Given the description of an element on the screen output the (x, y) to click on. 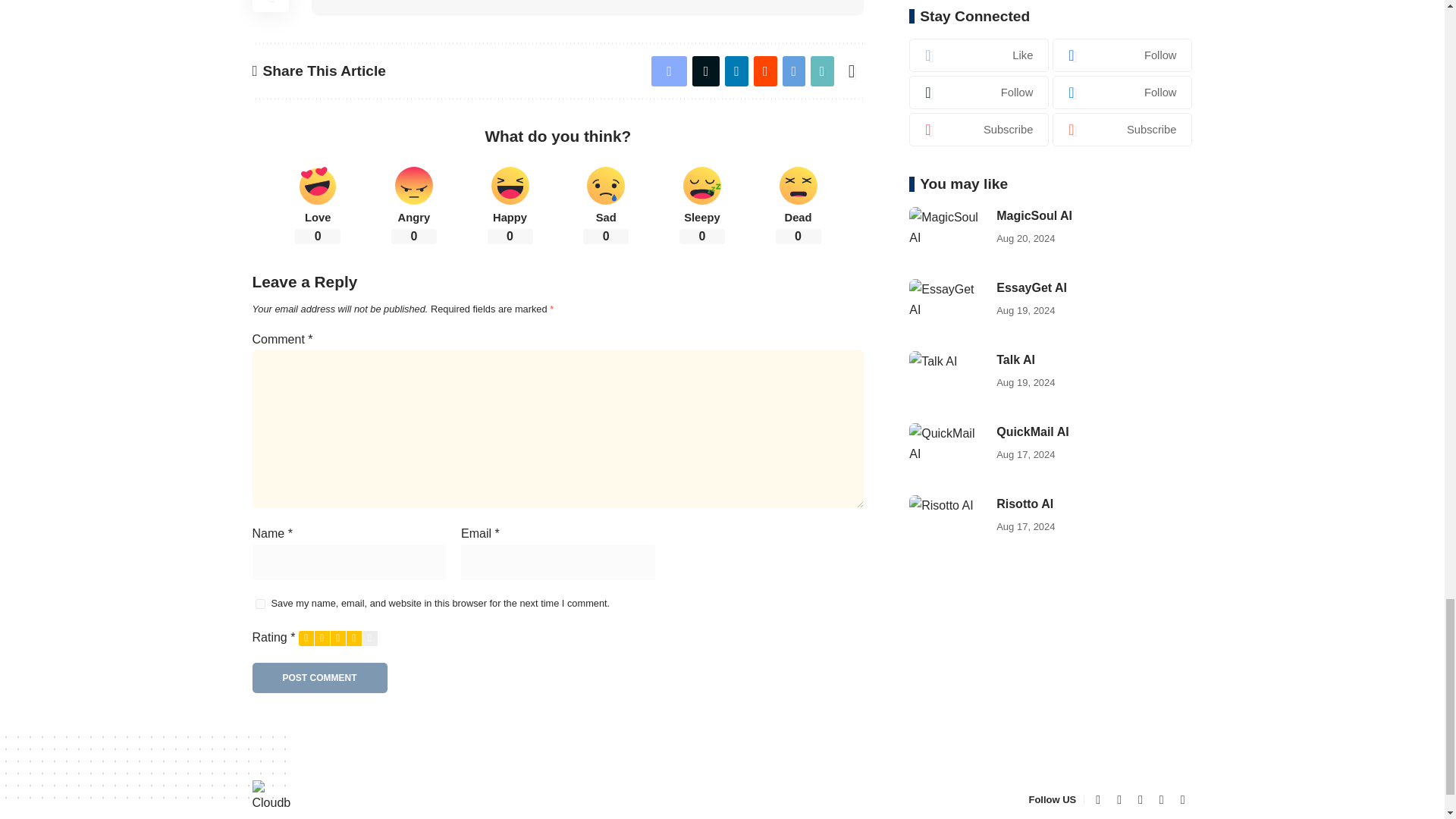
Post Comment (319, 677)
5 Stars (369, 638)
2 Stars (322, 638)
4 Stars (353, 638)
1 Star (306, 638)
3 Stars (338, 638)
yes (259, 603)
